Given the description of an element on the screen output the (x, y) to click on. 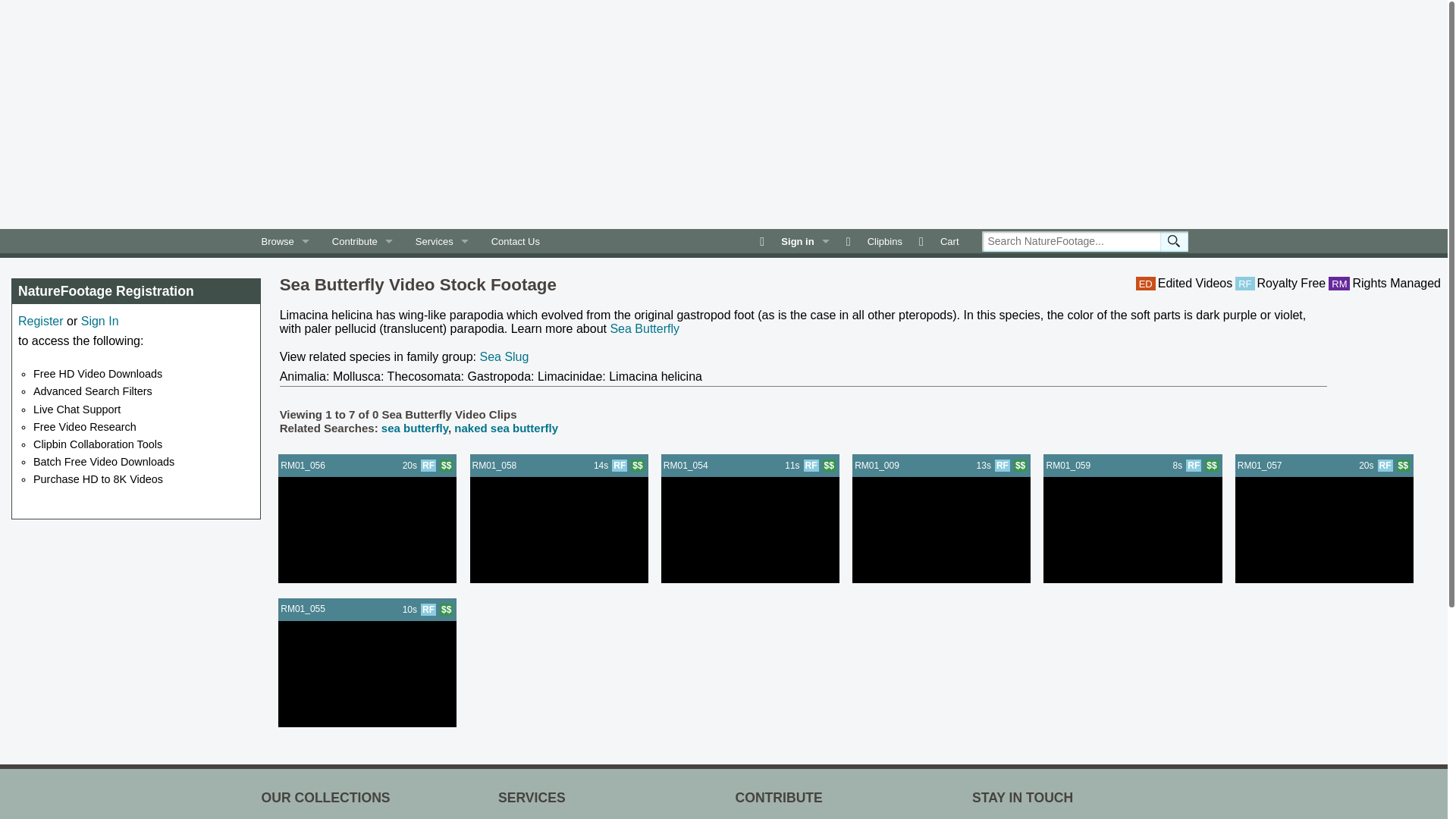
Sign in (797, 241)
naked sea butterfly (505, 427)
Sea Butterfly (644, 328)
Sea Slug (503, 356)
Pricing calculator (446, 465)
Browse (285, 241)
